Given the description of an element on the screen output the (x, y) to click on. 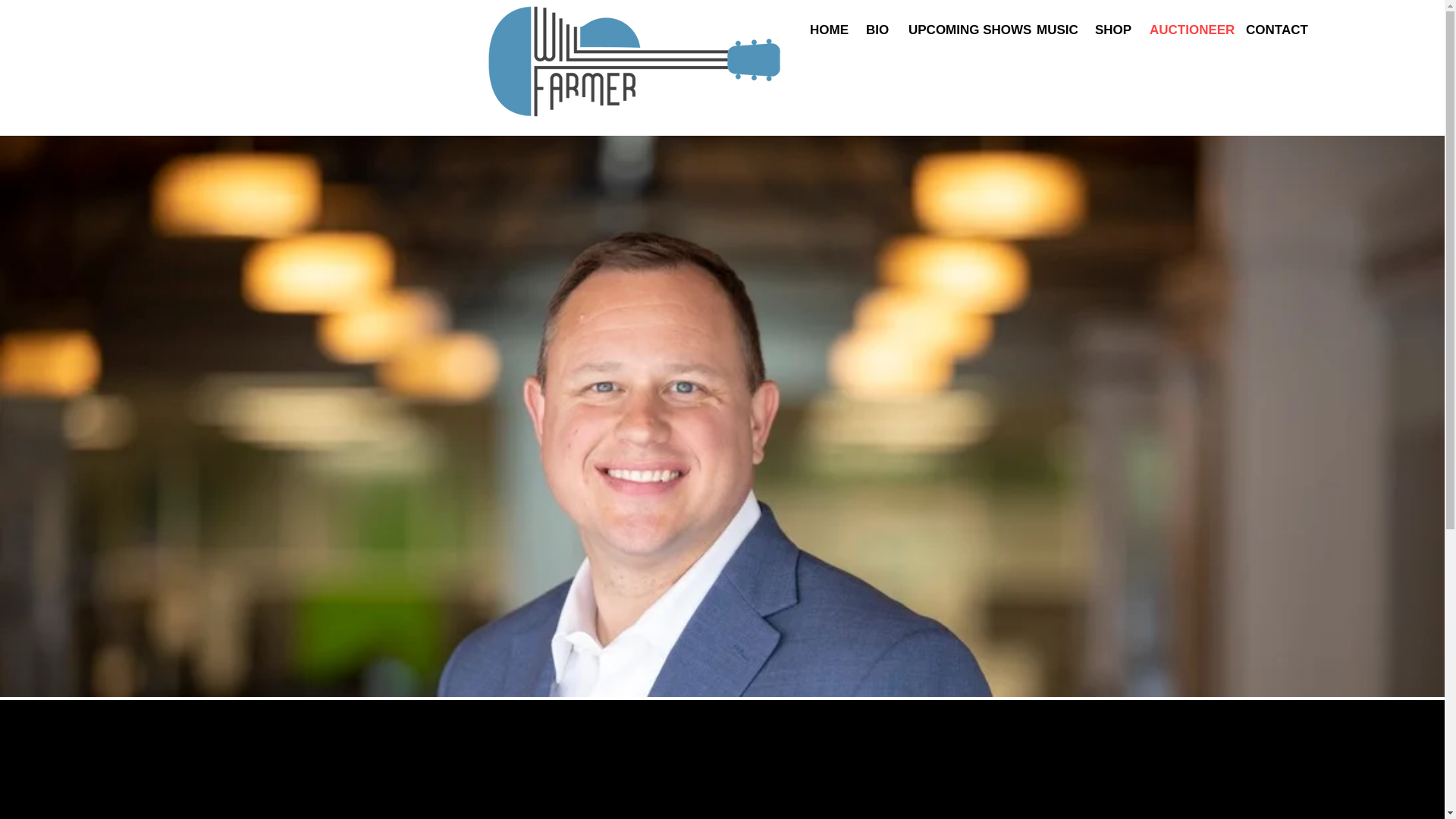
UPCOMING SHOWS (960, 29)
Logo-Black-and-Blue.png (633, 61)
CONTACT (1272, 29)
SHOP (1110, 29)
BIO (875, 29)
MUSIC (1054, 29)
AUCTIONEER (1186, 29)
HOME (825, 29)
